Given the description of an element on the screen output the (x, y) to click on. 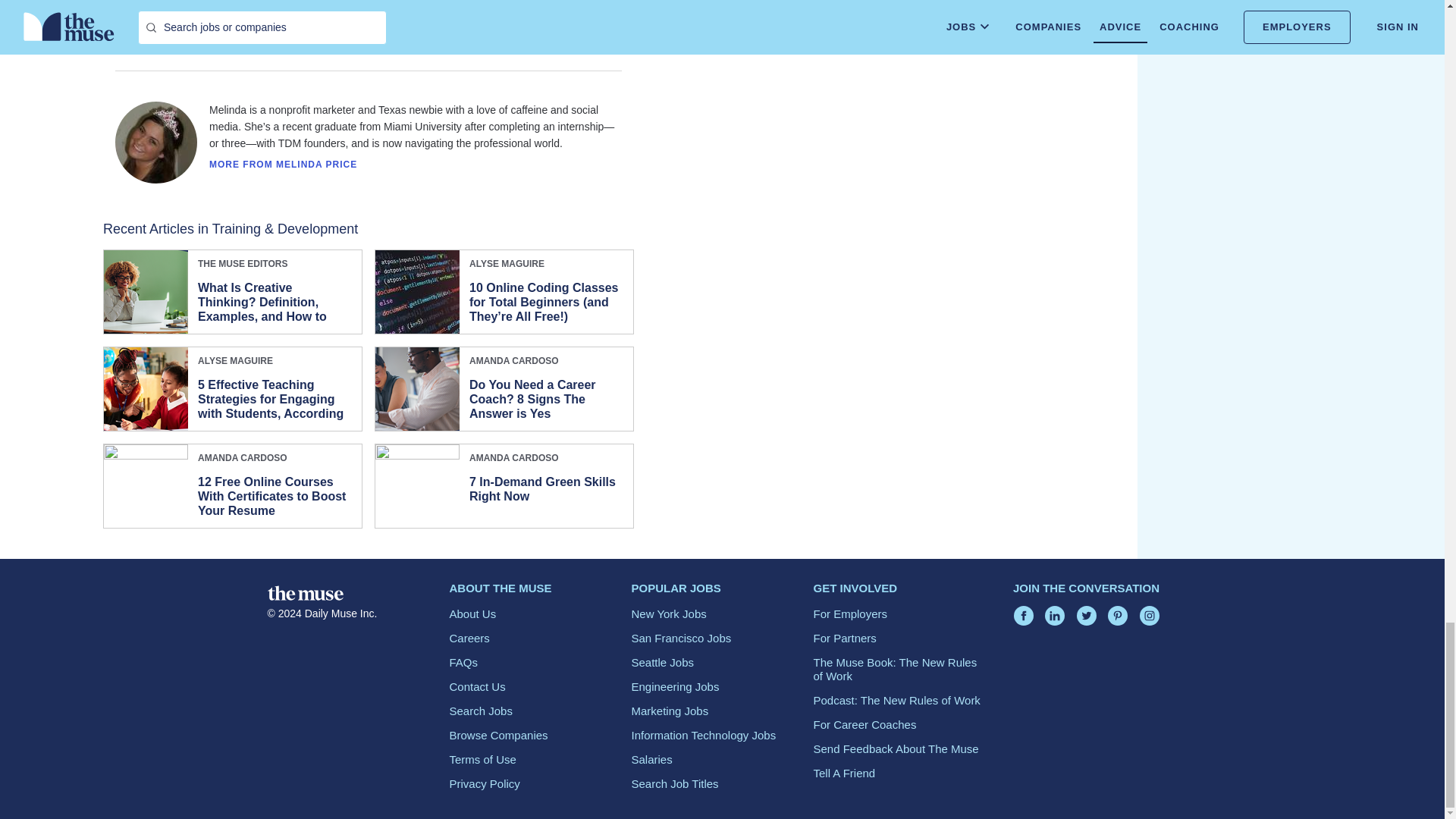
The Muse LogoA logo with "the muse" in white text. (304, 592)
